Given the description of an element on the screen output the (x, y) to click on. 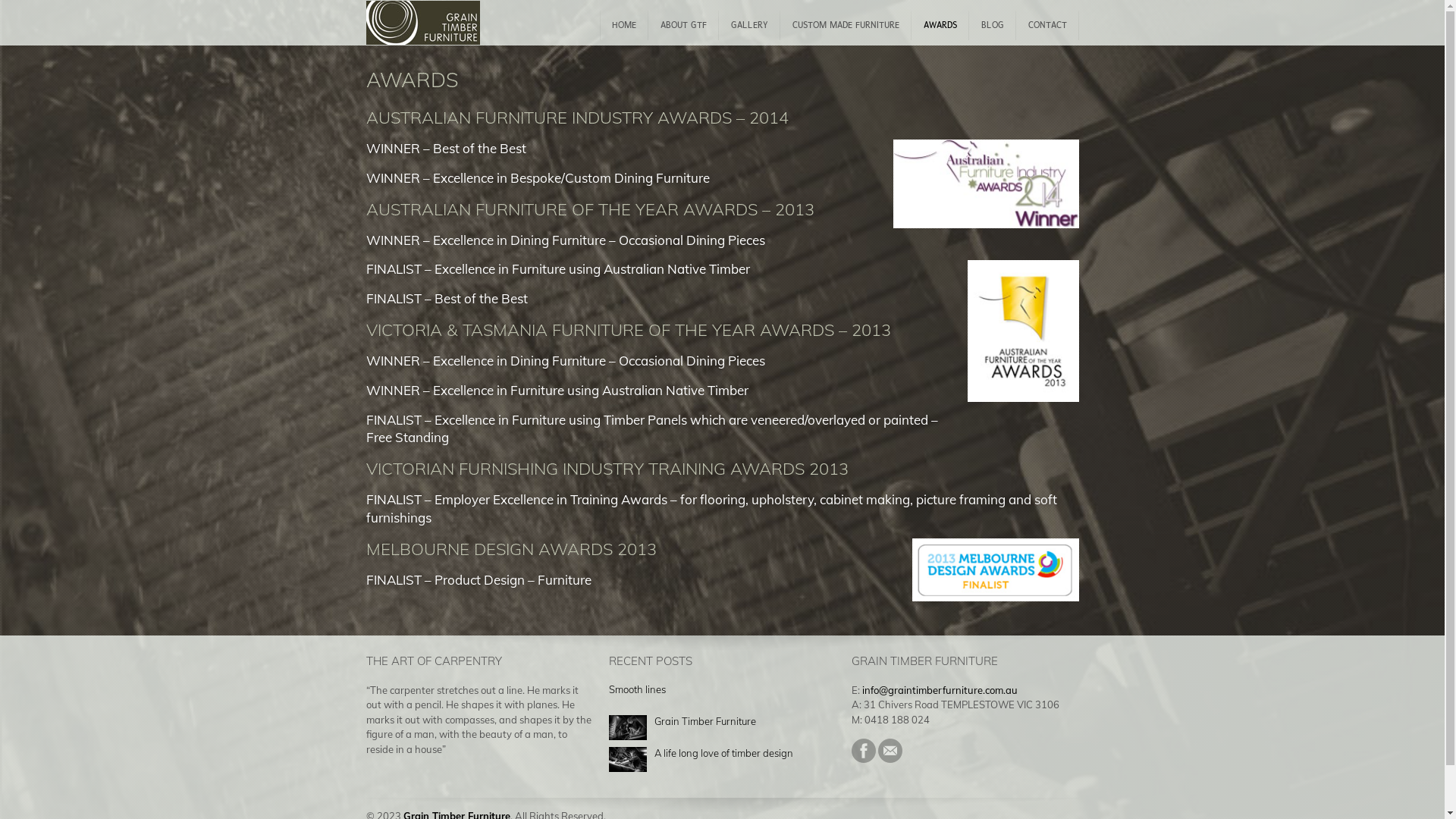
Grain Timber Furniture Element type: text (704, 721)
ABOUT GTF Element type: text (682, 25)
HOME Element type: text (623, 25)
CUSTOM MADE FURNITURE Element type: text (844, 25)
CONTACT Element type: text (1047, 25)
BLOG Element type: text (992, 25)
info@graintimberfurniture.com.au Element type: text (938, 690)
A life long love of timber design Element type: text (722, 752)
Smooth lines Element type: text (636, 689)
Grain Timber Furniture Element type: hover (422, 24)
Grain Tiber Furniture on Facebook Element type: hover (862, 759)
GALLERY Element type: text (749, 25)
AWARDS Element type: text (940, 25)
